Given the description of an element on the screen output the (x, y) to click on. 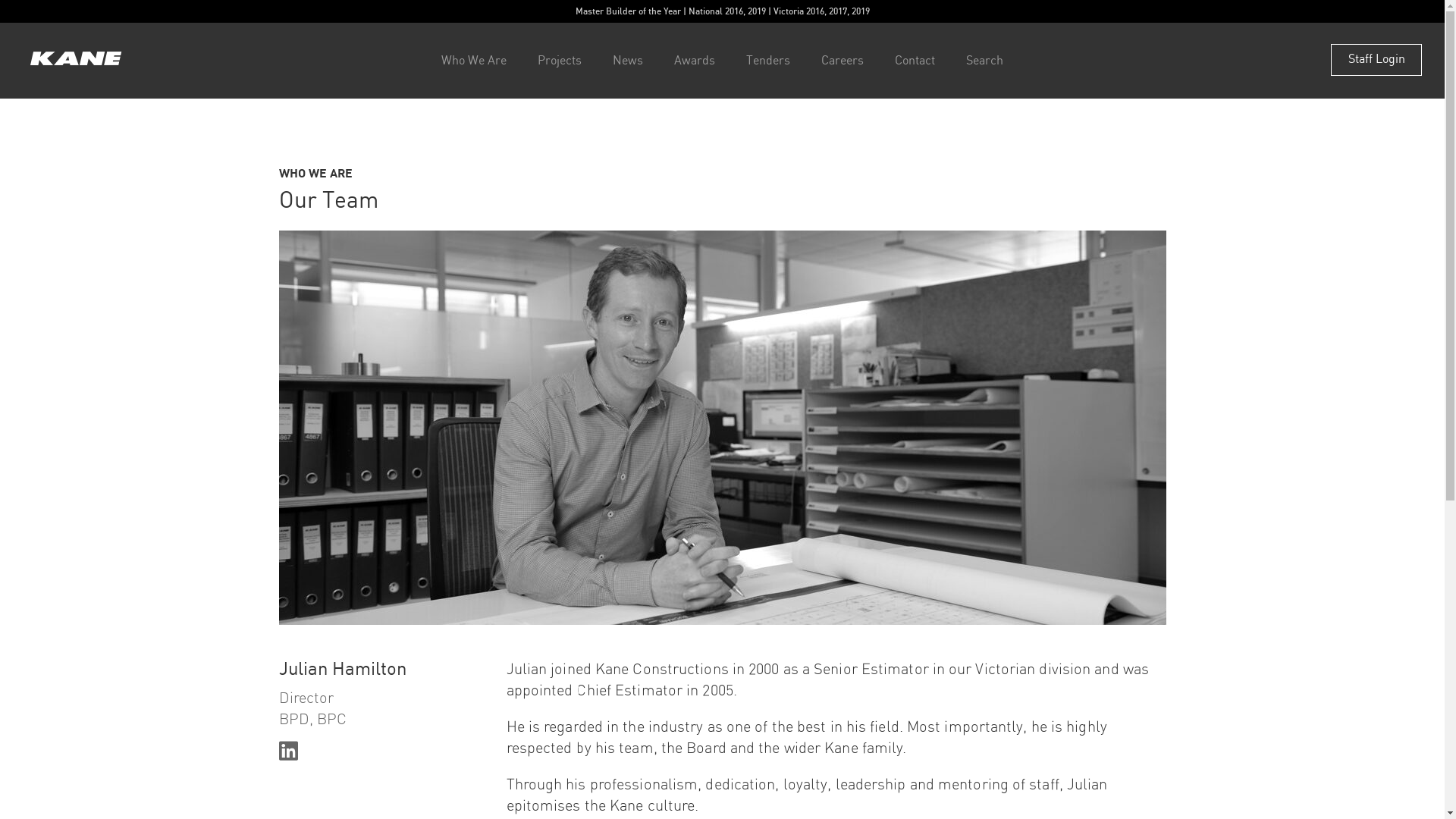
Careers Element type: text (842, 60)
Staff Login Element type: text (1375, 59)
Kane Constructions Element type: hover (75, 60)
Search Element type: text (984, 60)
Contact Element type: text (914, 60)
News Element type: text (627, 60)
Projects Element type: text (559, 60)
Awards Element type: text (694, 60)
Tenders Element type: text (768, 60)
Who We Are Element type: text (473, 60)
